Given the description of an element on the screen output the (x, y) to click on. 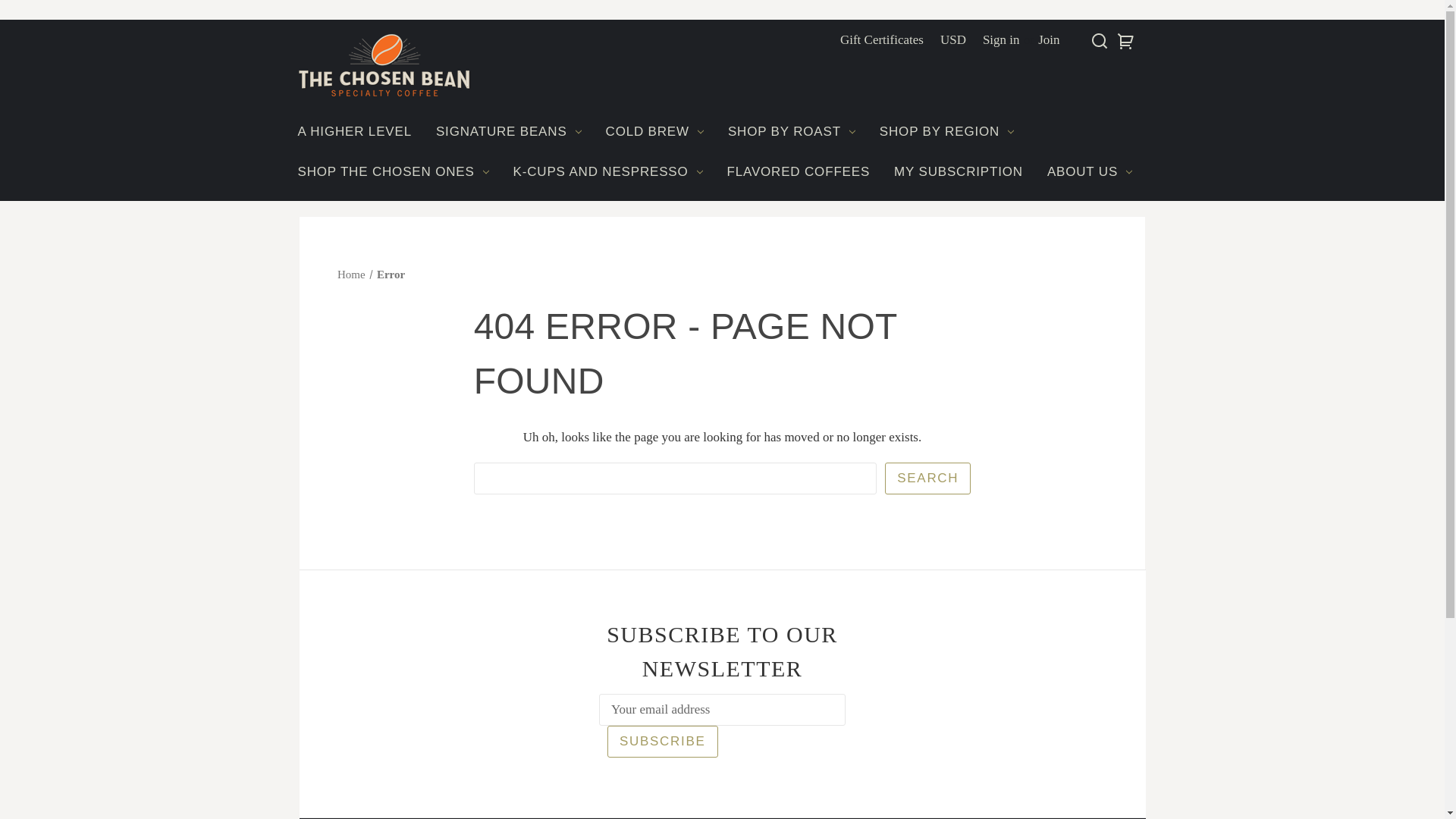
The Chosen Bean (384, 68)
Subscribe (662, 741)
USD (952, 39)
SHOP BY REGION (946, 133)
SIGNATURE BEANS (508, 133)
Join (1048, 39)
Gift Certificates (881, 39)
Search (928, 478)
COLD BREW (655, 133)
A HIGHER LEVEL (354, 133)
Sign in (1000, 39)
SHOP BY ROAST (791, 133)
